Given the description of an element on the screen output the (x, y) to click on. 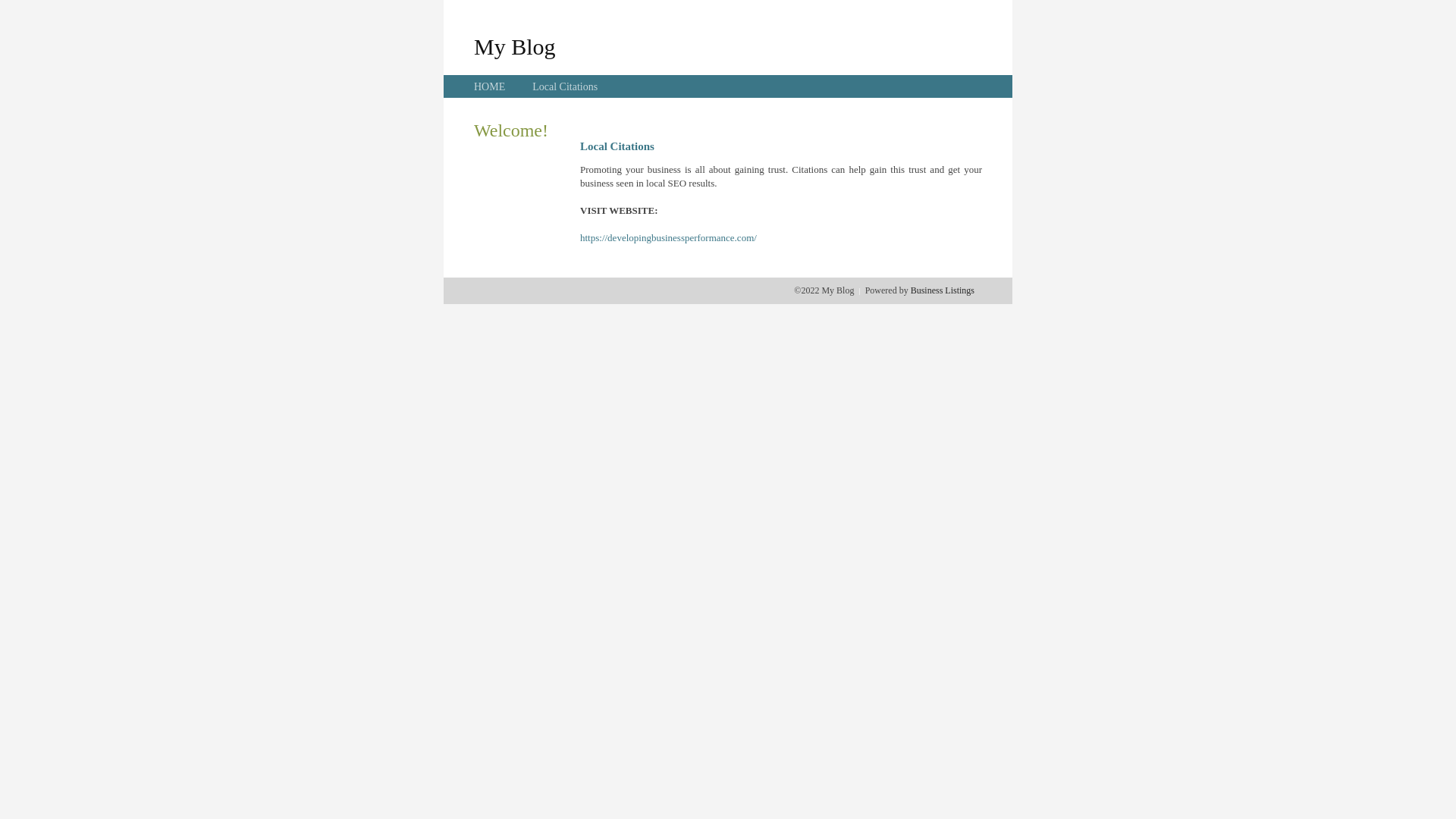
Business Listings Element type: text (942, 290)
Local Citations Element type: text (564, 86)
My Blog Element type: text (514, 46)
https://developingbusinessperformance.com/ Element type: text (668, 237)
HOME Element type: text (489, 86)
